Given the description of an element on the screen output the (x, y) to click on. 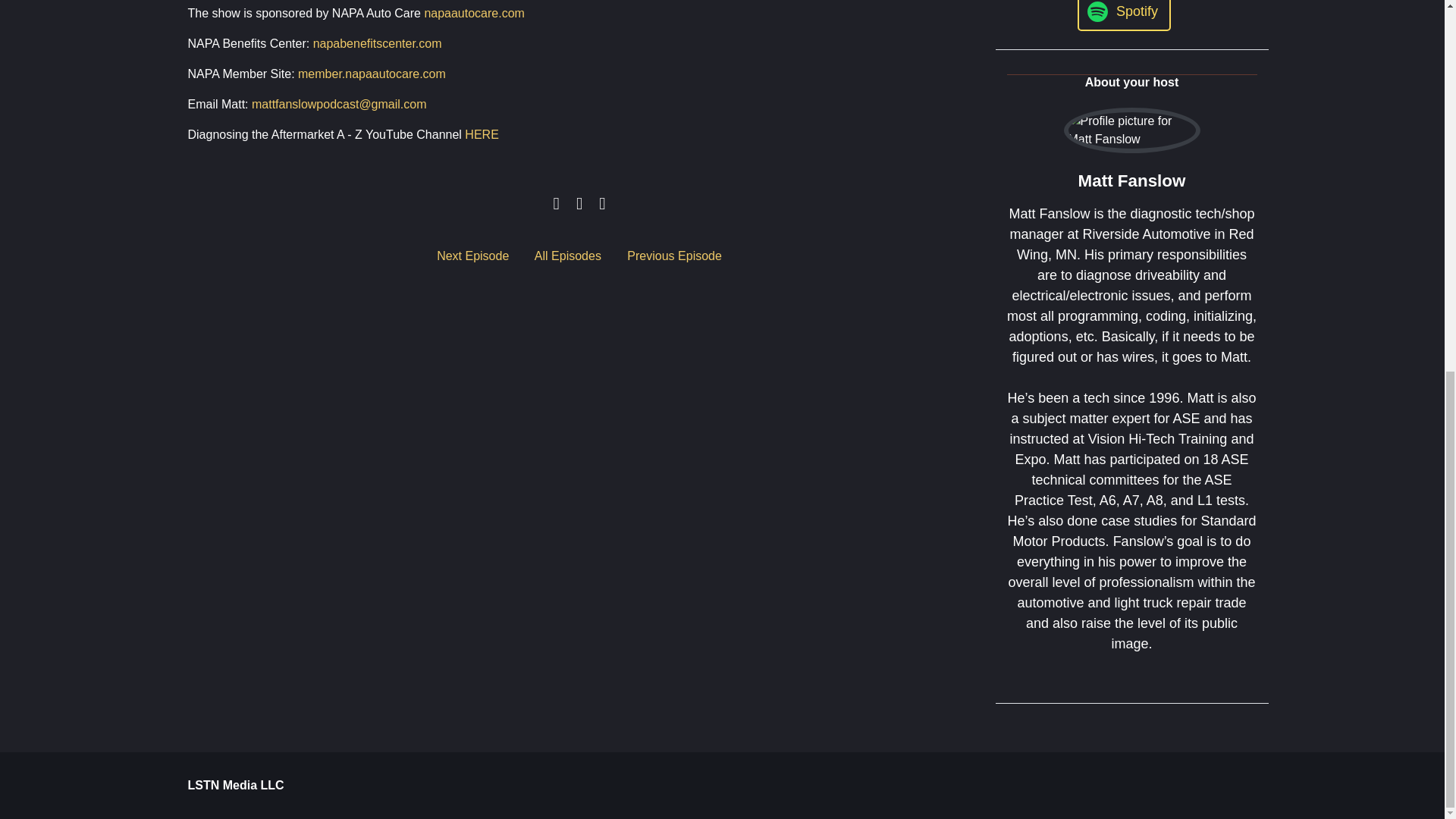
All Episodes (567, 255)
napabenefitscenter.com (377, 42)
Spotify (1123, 15)
Next Episode (472, 255)
napaautocare.com (473, 12)
member.napaautocare.com (371, 73)
Previous Episode (674, 255)
HERE (480, 133)
